Given the description of an element on the screen output the (x, y) to click on. 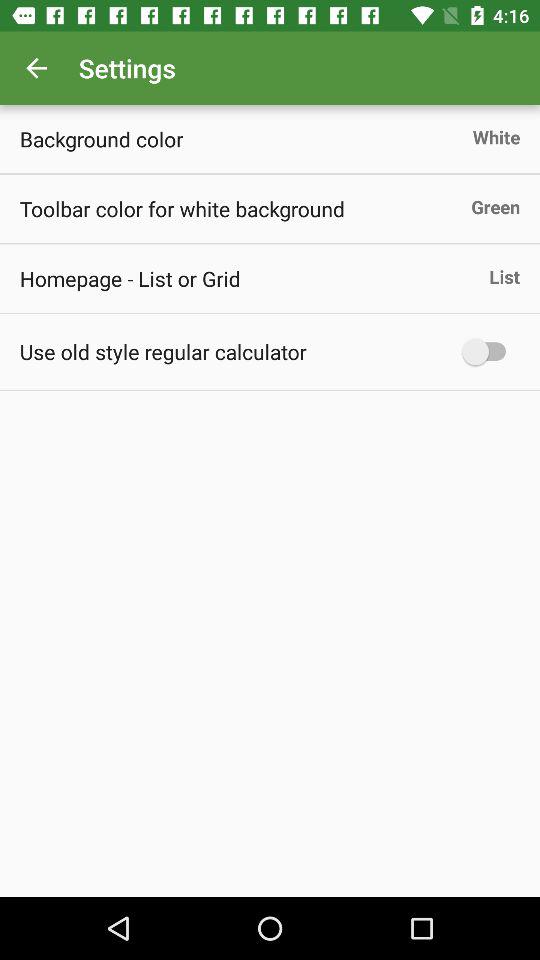
choose icon next to the settings icon (36, 68)
